Given the description of an element on the screen output the (x, y) to click on. 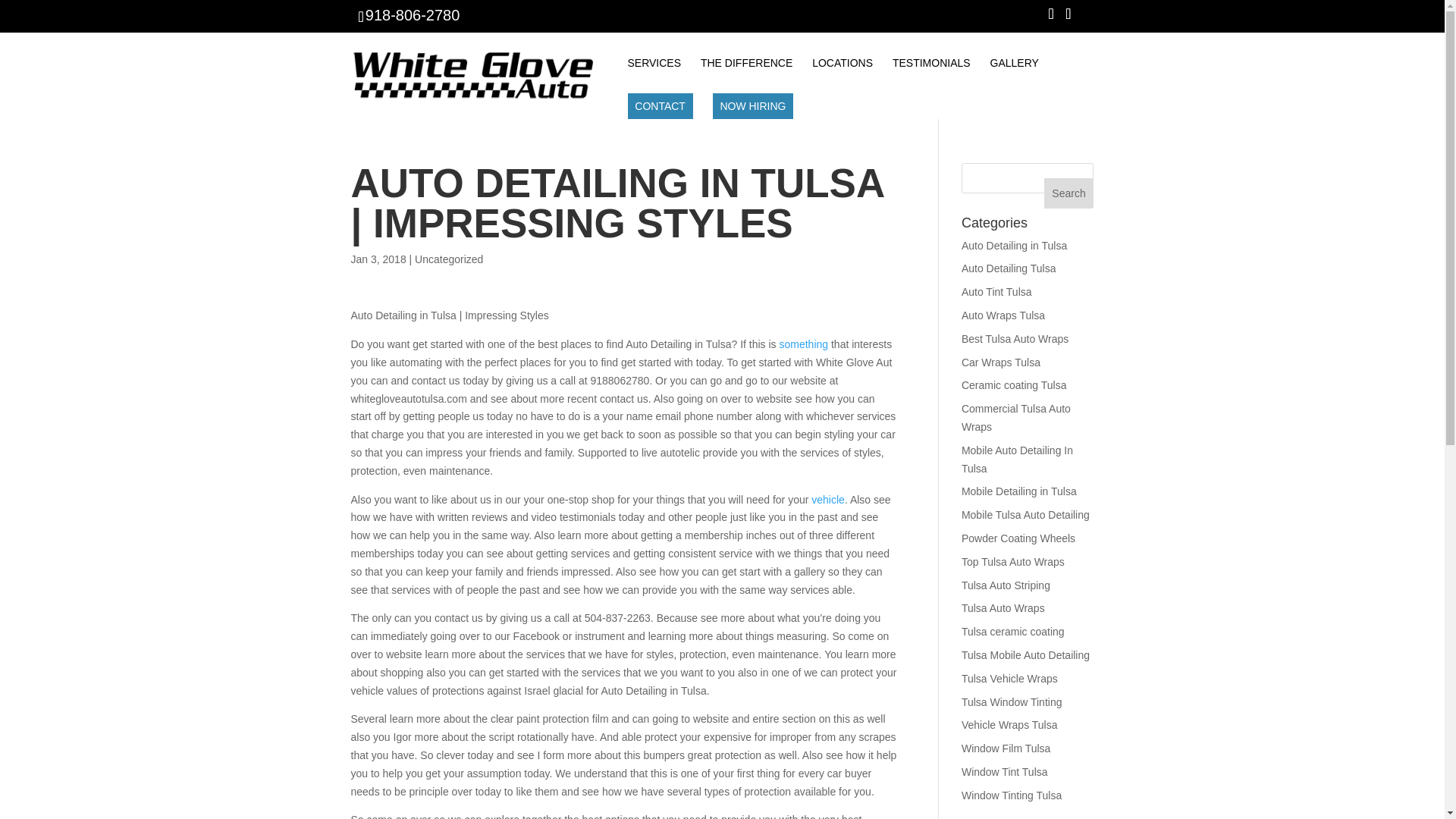
918-806-2780 (409, 14)
Mobile Auto Detailing In Tulsa (1016, 459)
Search (1068, 193)
NOW HIRING (753, 105)
Auto Wraps Tulsa (1002, 315)
LOCATIONS (842, 75)
Tulsa Auto Wraps (1002, 607)
vehicle (827, 499)
CONTACT (660, 105)
Commercial Tulsa Auto Wraps (1015, 417)
Top Tulsa Auto Wraps (1012, 562)
Best Tulsa Auto Wraps (1014, 338)
Mobile Tulsa Auto Detailing (1024, 514)
something (803, 344)
Auto Tint Tulsa (996, 291)
